Given the description of an element on the screen output the (x, y) to click on. 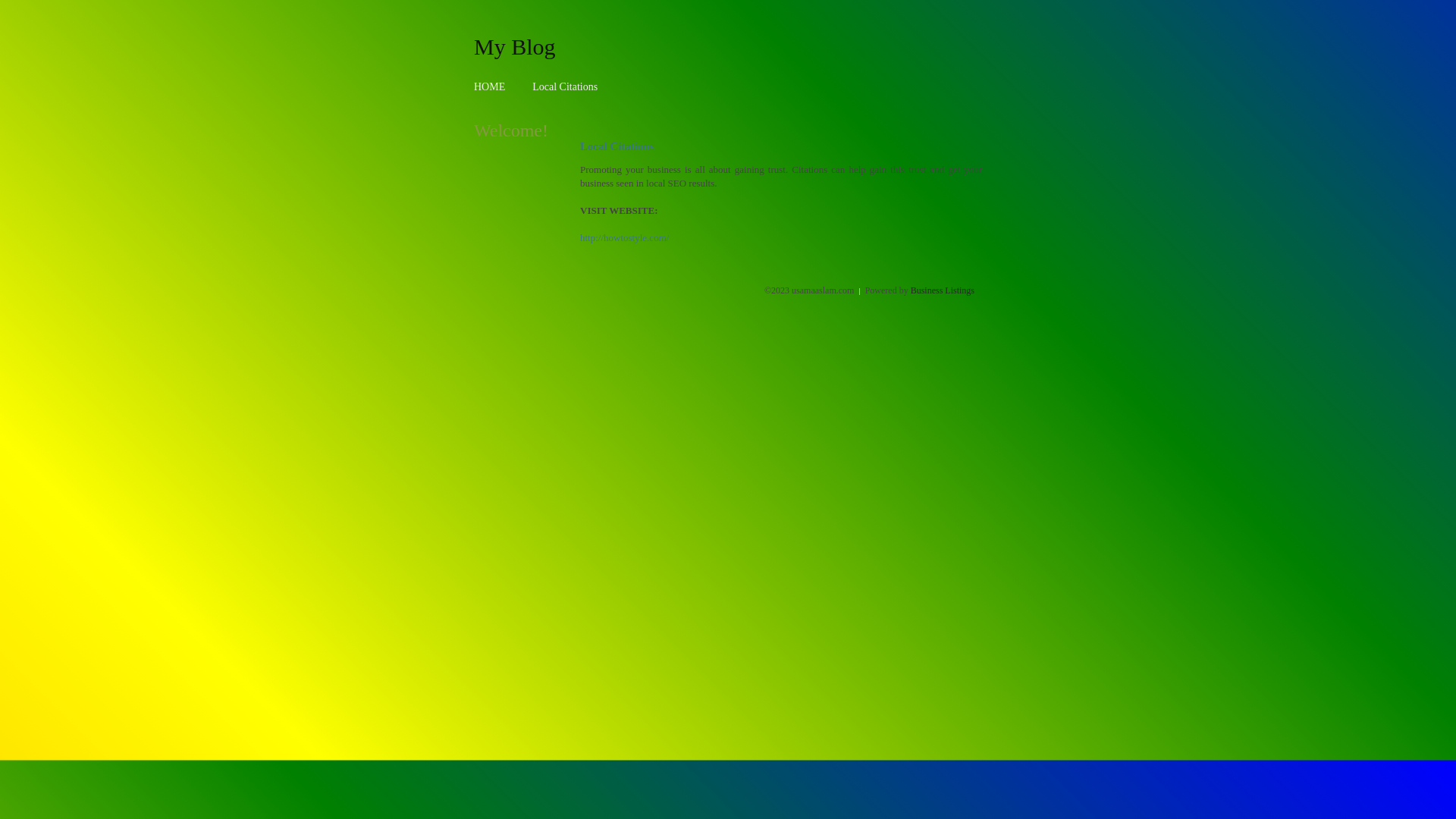
My Blog Element type: text (514, 46)
http://howtostyle.com/ Element type: text (624, 237)
Business Listings Element type: text (942, 290)
HOME Element type: text (489, 86)
Local Citations Element type: text (564, 86)
